Given the description of an element on the screen output the (x, y) to click on. 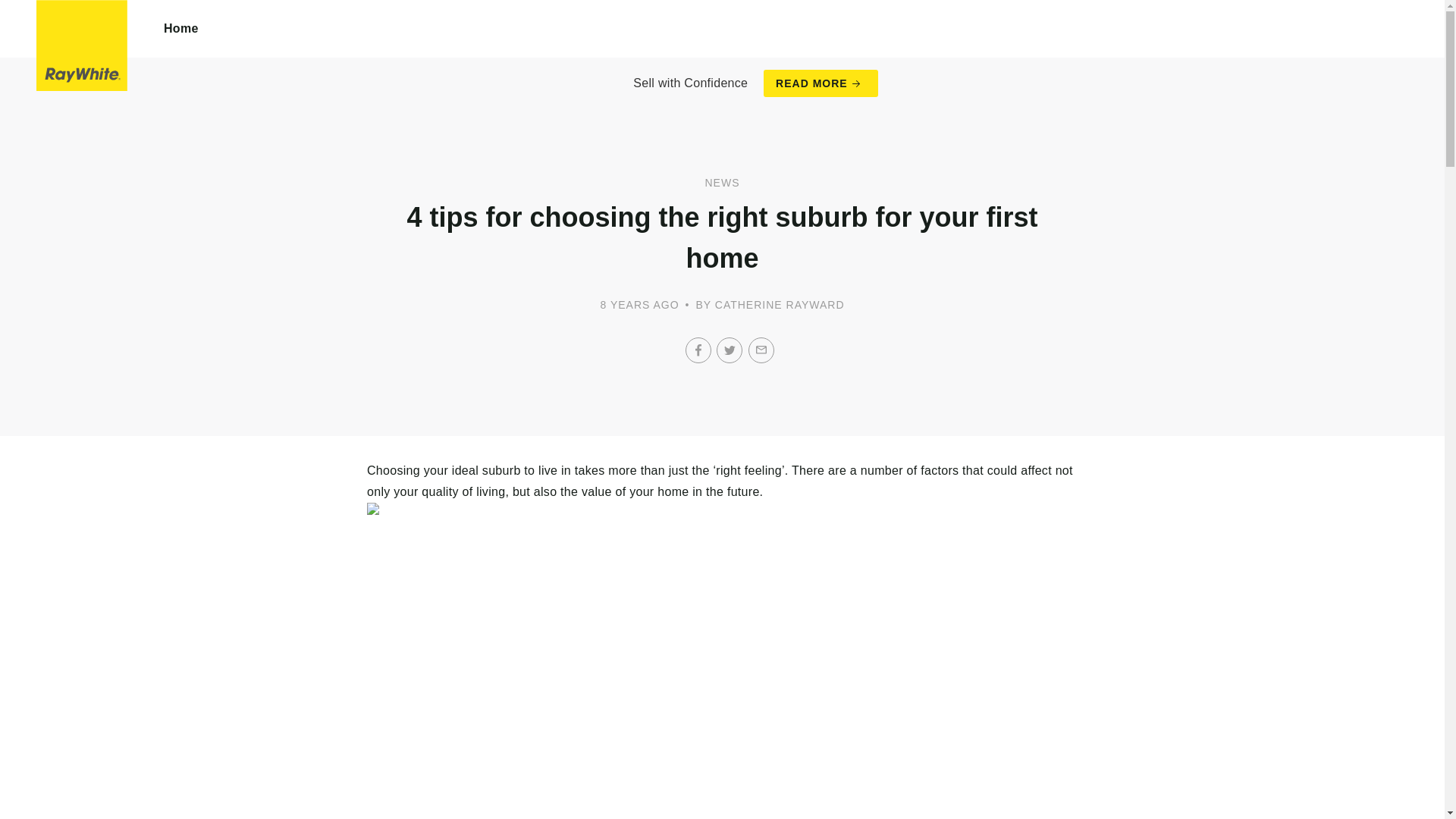
Home (180, 28)
Facebook (698, 350)
Twitter (729, 350)
READ MORE (819, 83)
Email (761, 350)
